Given the description of an element on the screen output the (x, y) to click on. 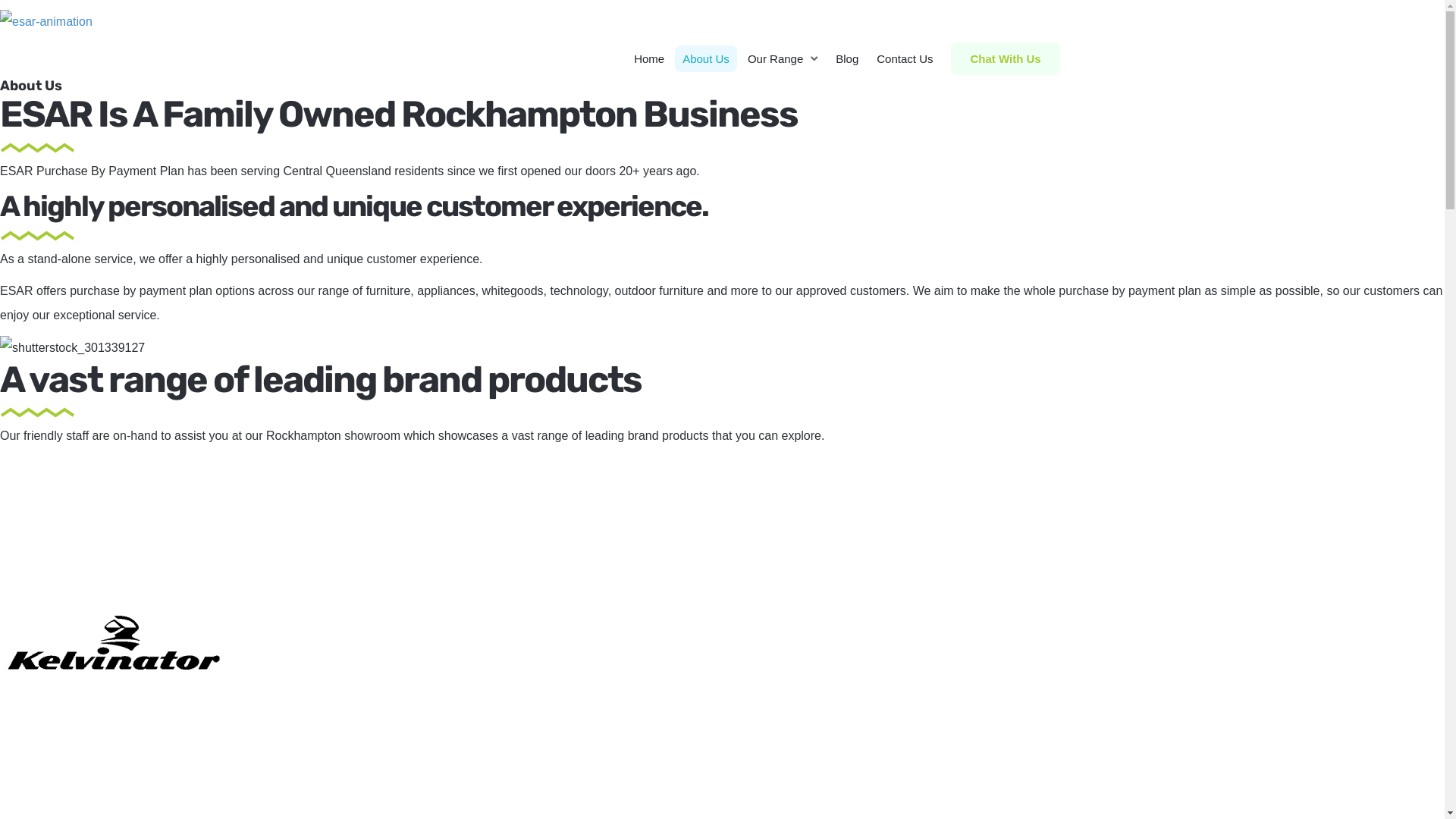
Home Element type: text (648, 58)
greenzig (1) Element type: hover (37, 147)
About Us Element type: text (705, 58)
Contact Us Element type: text (904, 58)
greenzig (1) Element type: hover (37, 412)
Blog Element type: text (847, 58)
esar-animation Element type: hover (46, 21)
kelvinator1 (1) Element type: hover (113, 642)
shutterstock_301339127 Element type: hover (72, 347)
Our Range Element type: text (782, 58)
Chat With Us Element type: text (1004, 58)
greenzig (1) Element type: hover (37, 235)
